Given the description of an element on the screen output the (x, y) to click on. 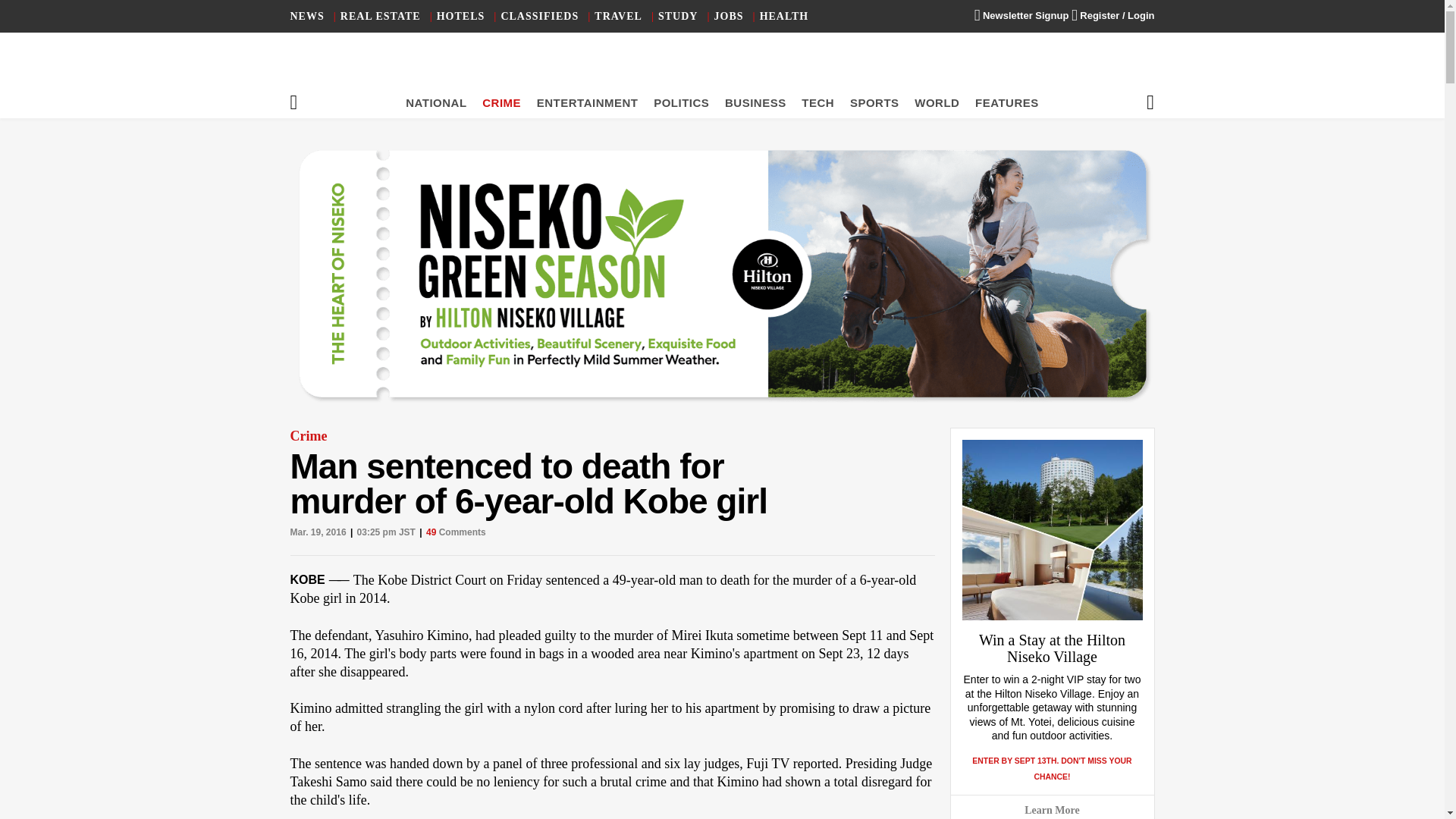
NATIONAL (435, 102)
CRIME (501, 102)
CLASSIFIEDS (539, 16)
NEWS (306, 16)
Newsletter Signup (1021, 15)
STUDY (677, 16)
ENTERTAINMENT (588, 102)
BUSINESS (755, 102)
JOBS (729, 16)
FEATURES (1007, 102)
